Given the description of an element on the screen output the (x, y) to click on. 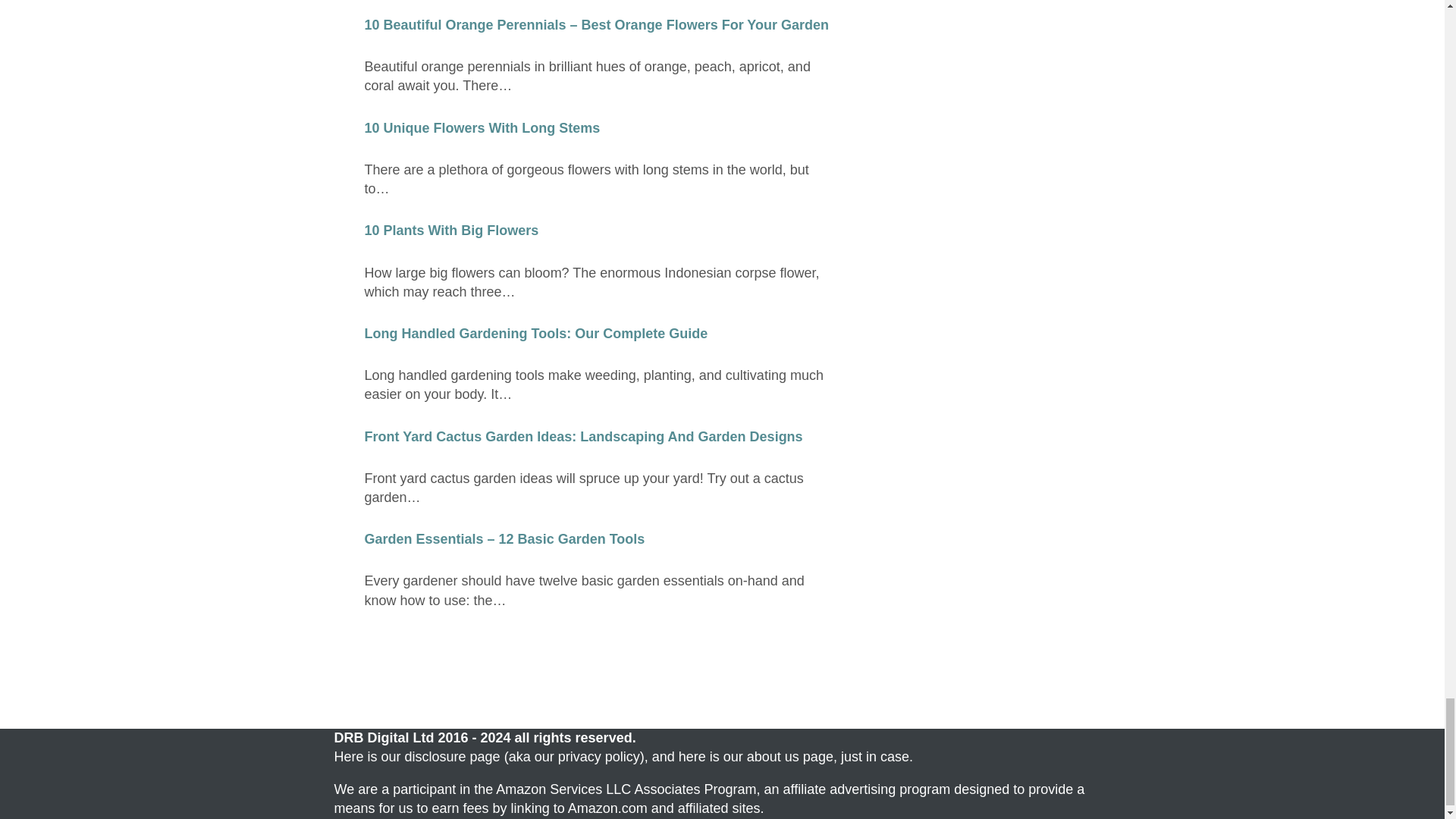
10 Unique Flowers With Long Stems (481, 127)
Long Handled Gardening Tools: Our Complete Guide (535, 333)
disclosure page (452, 756)
10 Plants With Big Flowers (451, 230)
